Given the description of an element on the screen output the (x, y) to click on. 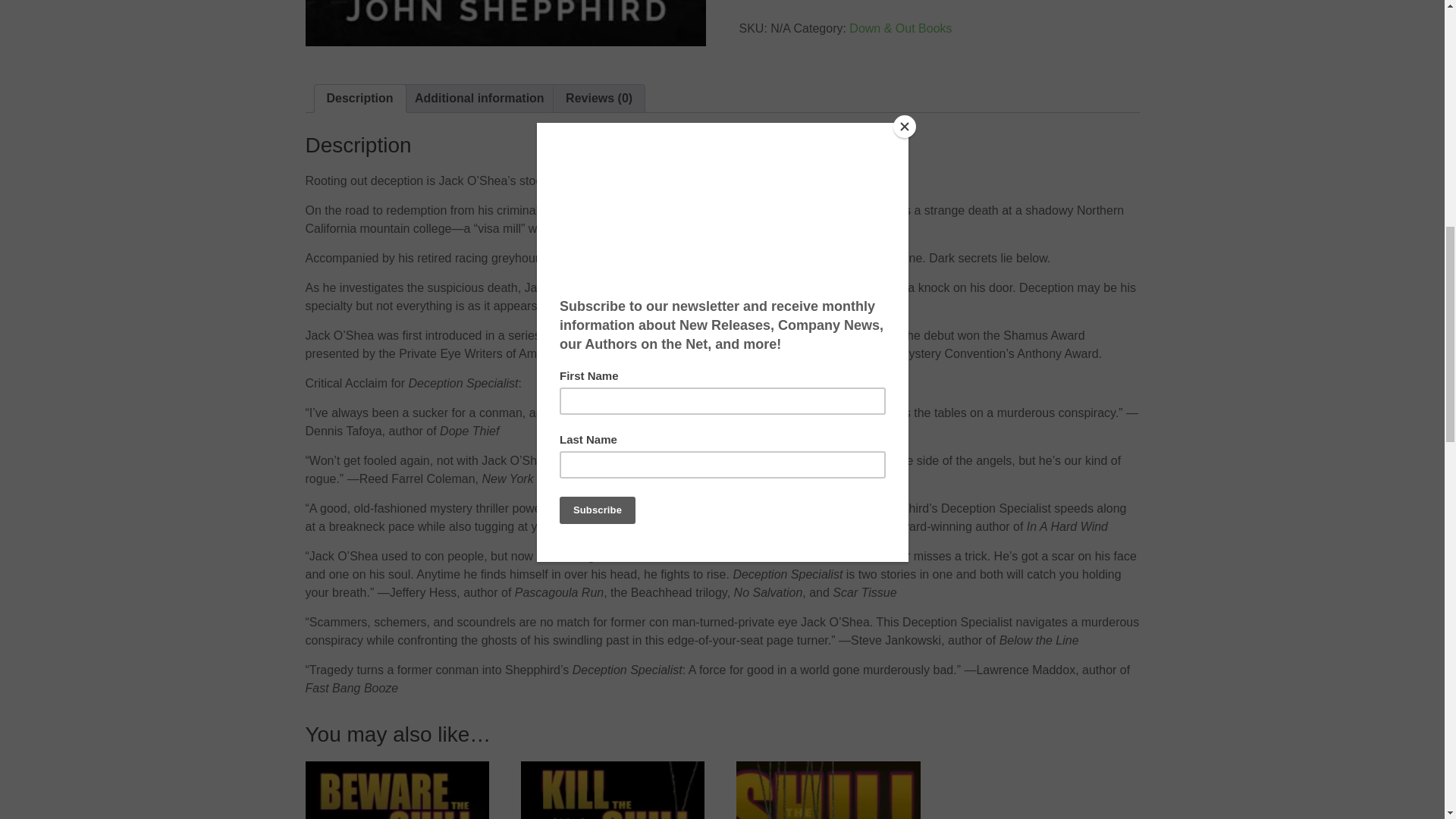
Deception Specialist by John Shepphird (504, 23)
PayPal (938, 10)
